Given the description of an element on the screen output the (x, y) to click on. 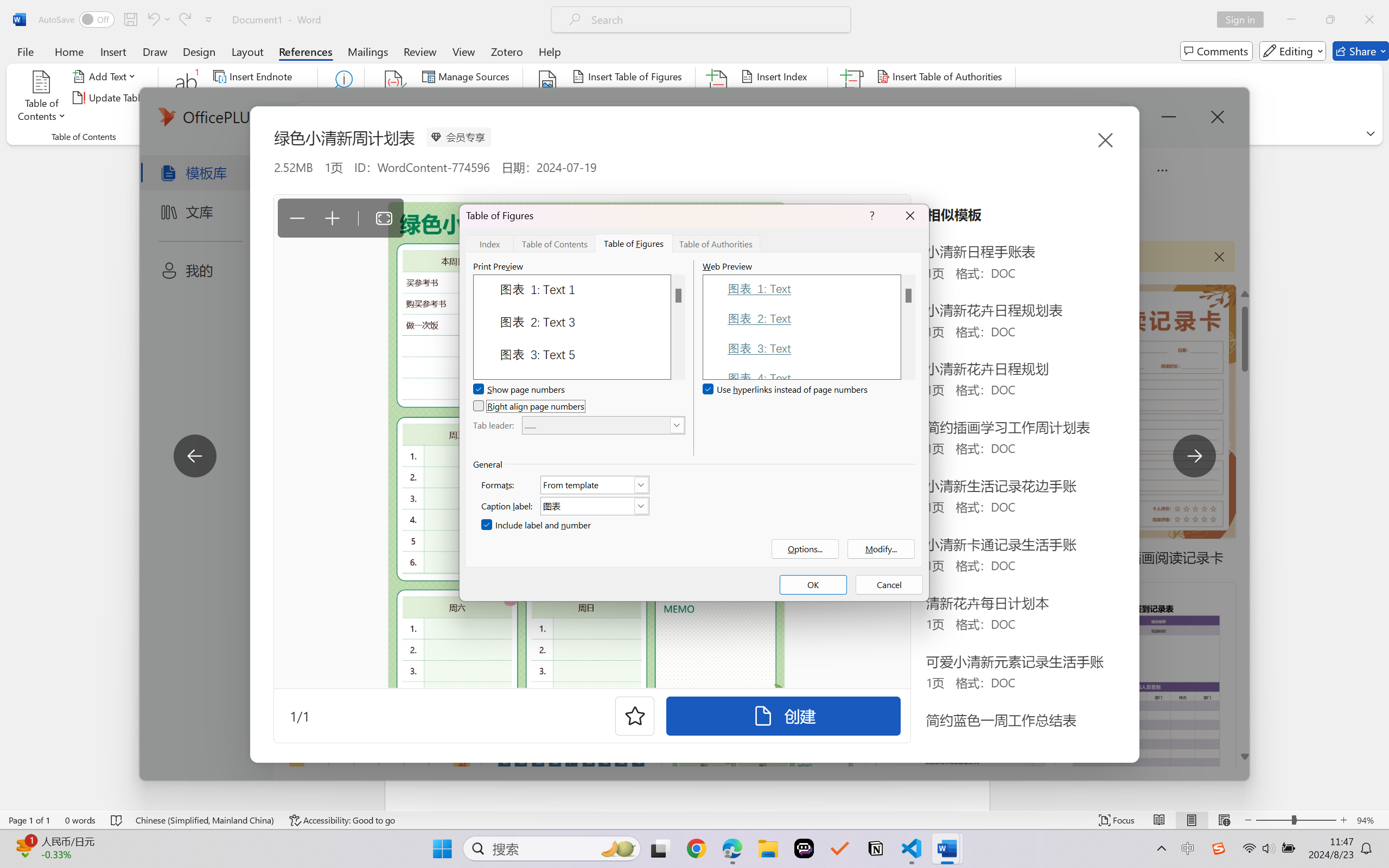
Table of Authorities (716, 243)
Web Preview (908, 327)
Tab leader: (603, 424)
AutomationID: 66 (908, 327)
Include label and number (536, 525)
Print Preview (677, 327)
